Given the description of an element on the screen output the (x, y) to click on. 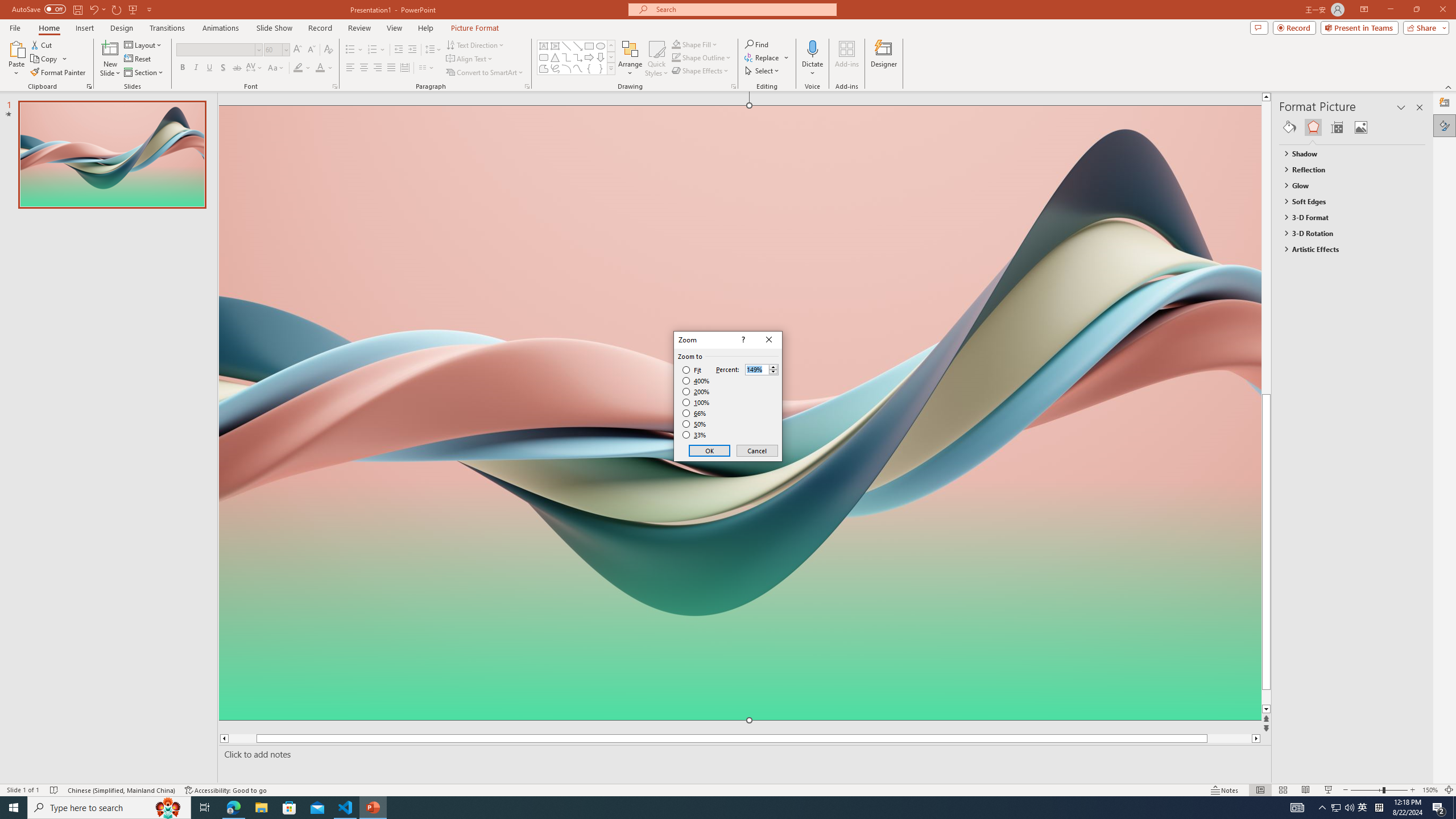
3-D Rotation (1347, 232)
3-D Format (1347, 217)
Section (144, 72)
Start (13, 807)
Align Left (349, 67)
File Explorer (261, 807)
Freeform: Scribble (554, 68)
Cut (42, 44)
Center (363, 67)
